Given the description of an element on the screen output the (x, y) to click on. 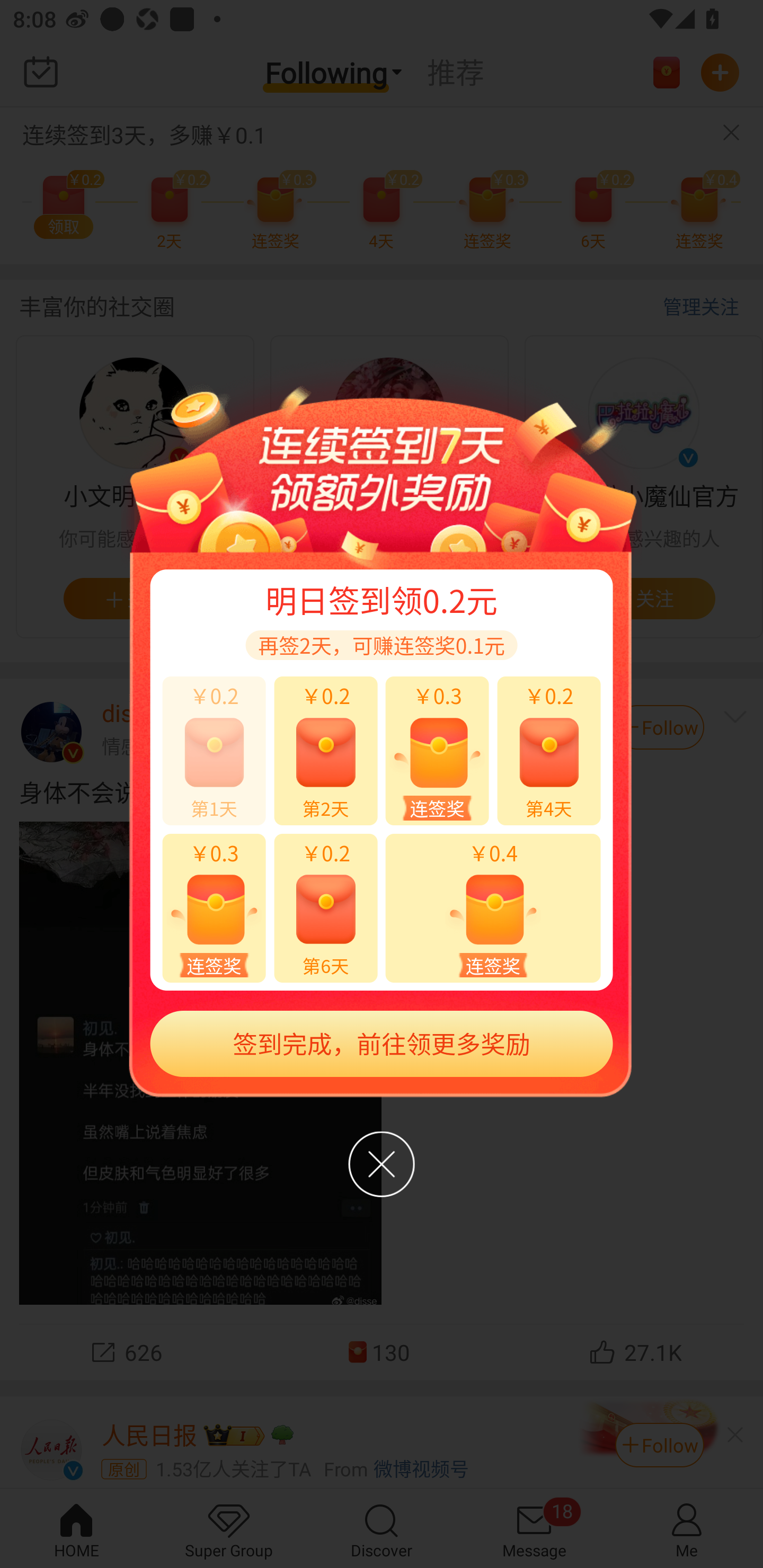
签到完成，前往领更多奖励 (381, 1043)
